Given the description of an element on the screen output the (x, y) to click on. 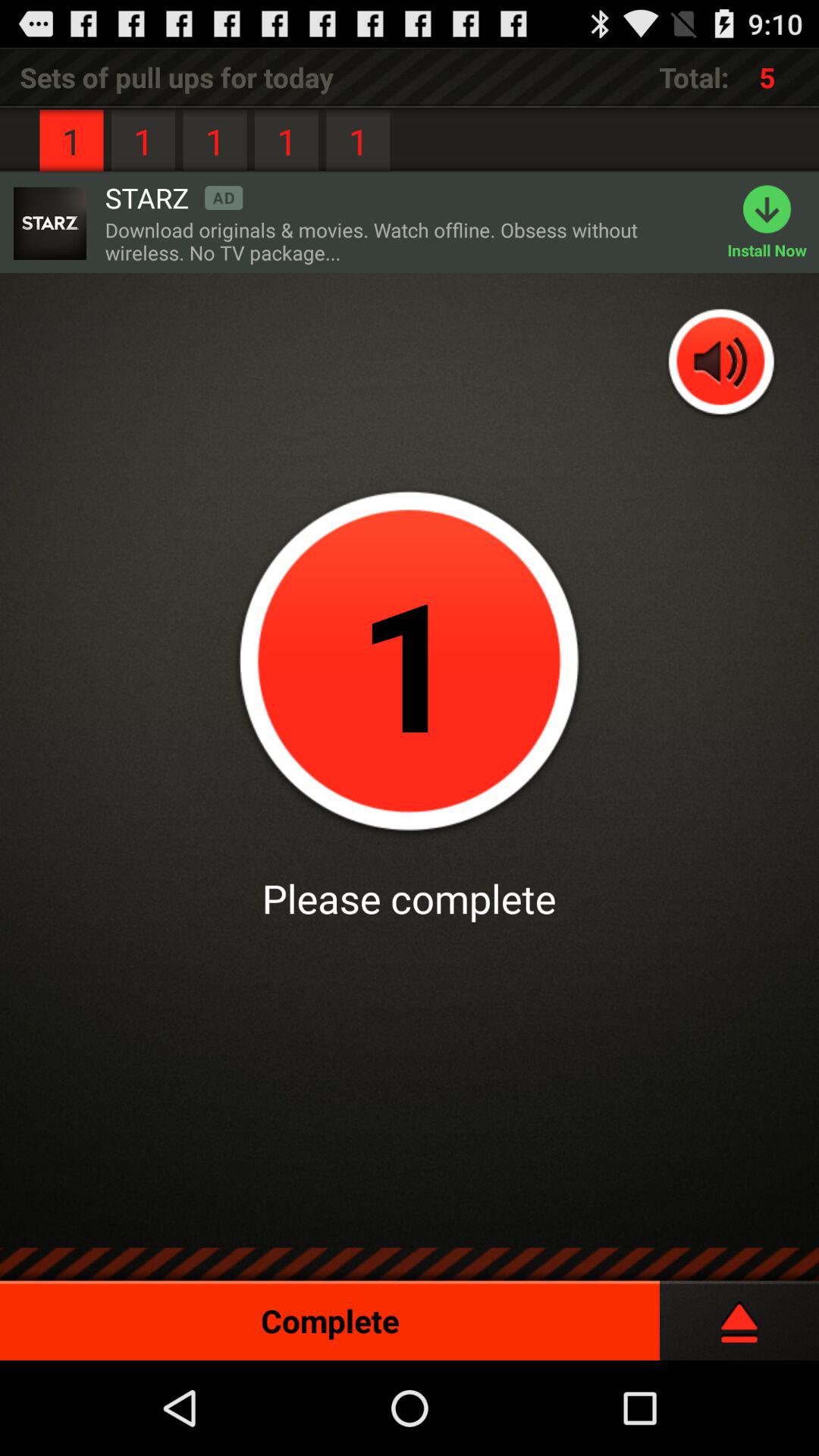
click to download starz app (49, 222)
